Given the description of an element on the screen output the (x, y) to click on. 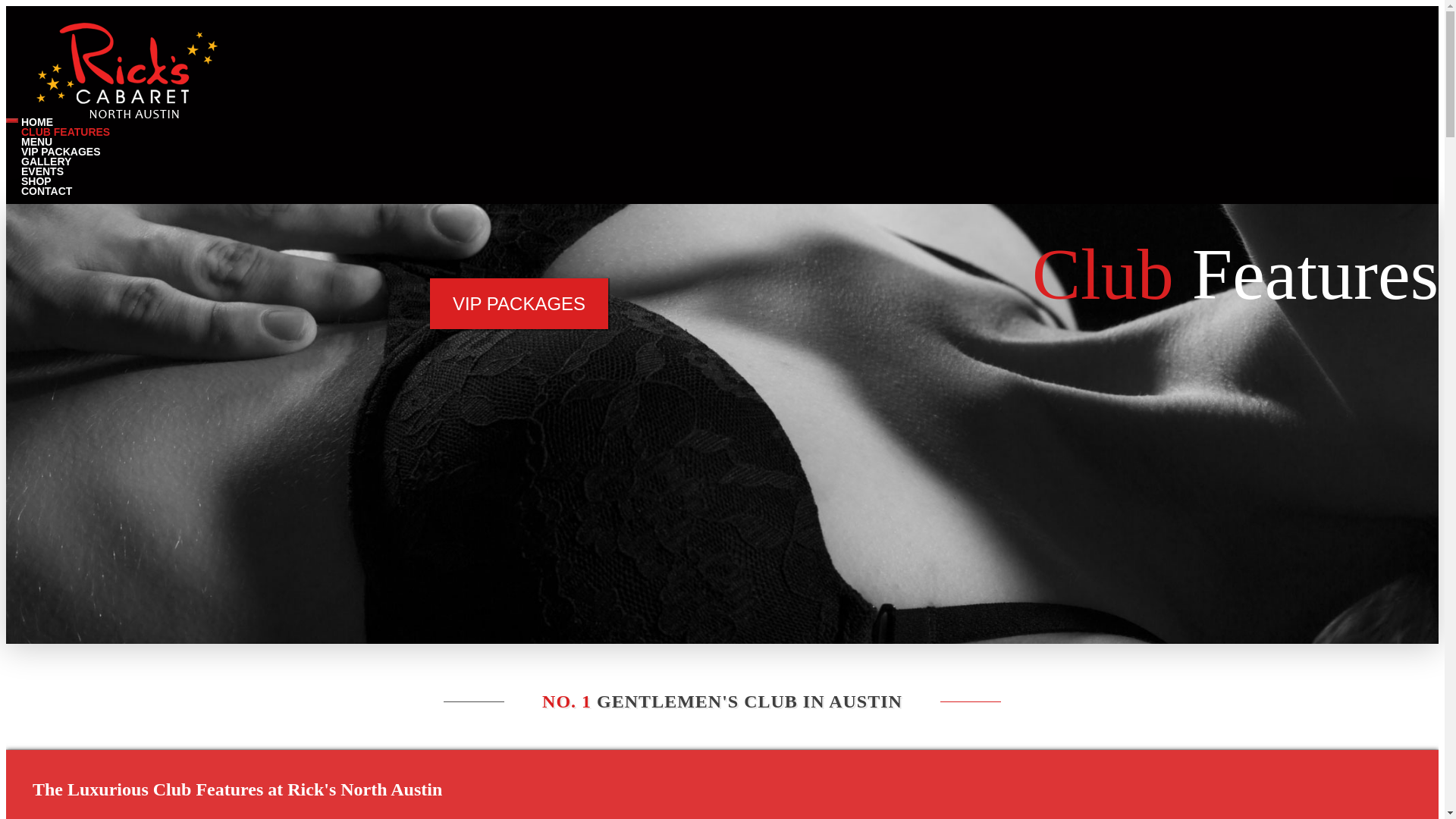
CLUB FEATURES (65, 123)
GALLERY (45, 153)
VIP PACKAGES (60, 143)
CONTACT (46, 183)
Toggle navigation (11, 119)
EVENTS (41, 163)
VIP PACKAGES (518, 303)
